Given the description of an element on the screen output the (x, y) to click on. 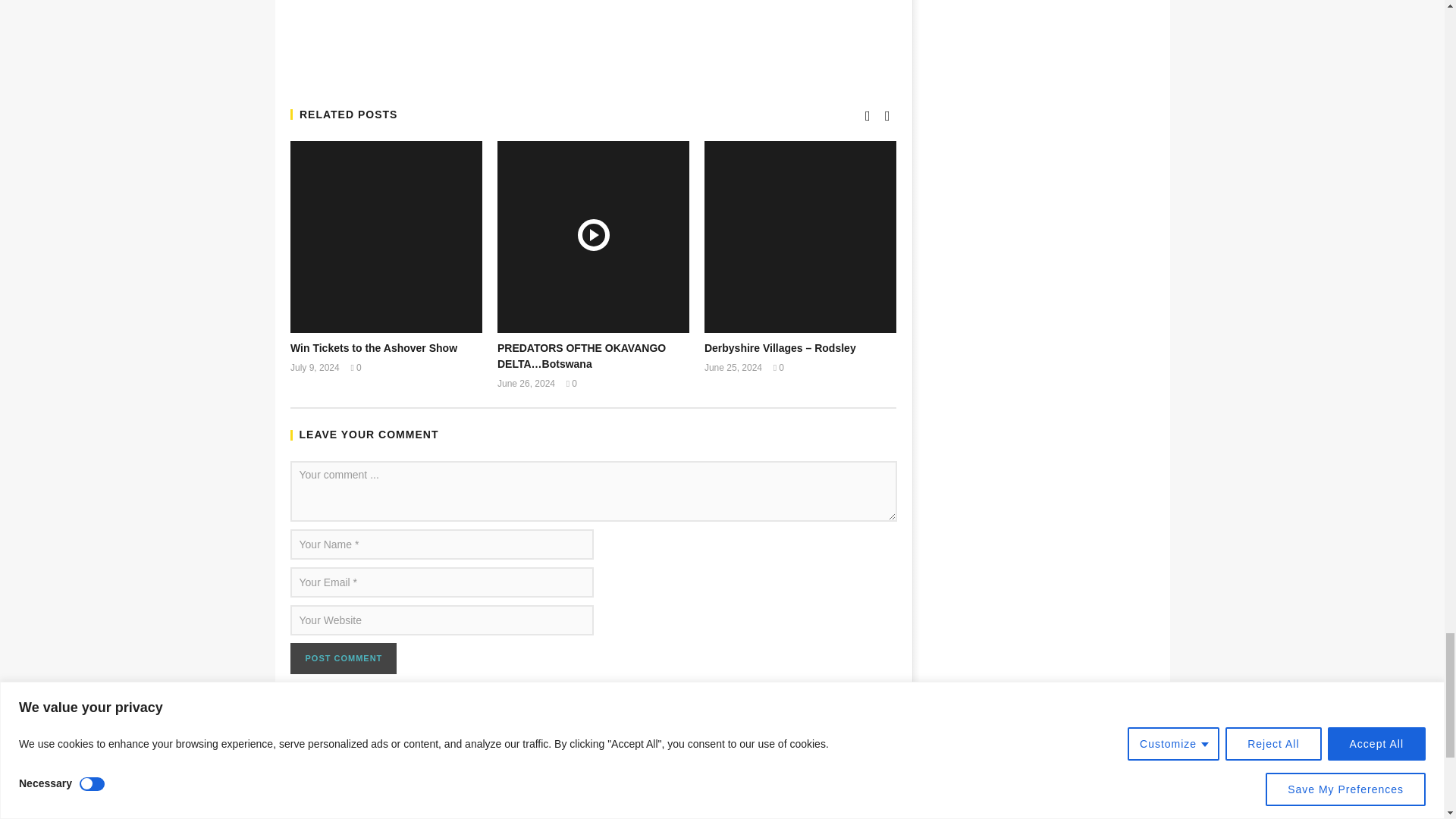
Post Comment (342, 658)
